Given the description of an element on the screen output the (x, y) to click on. 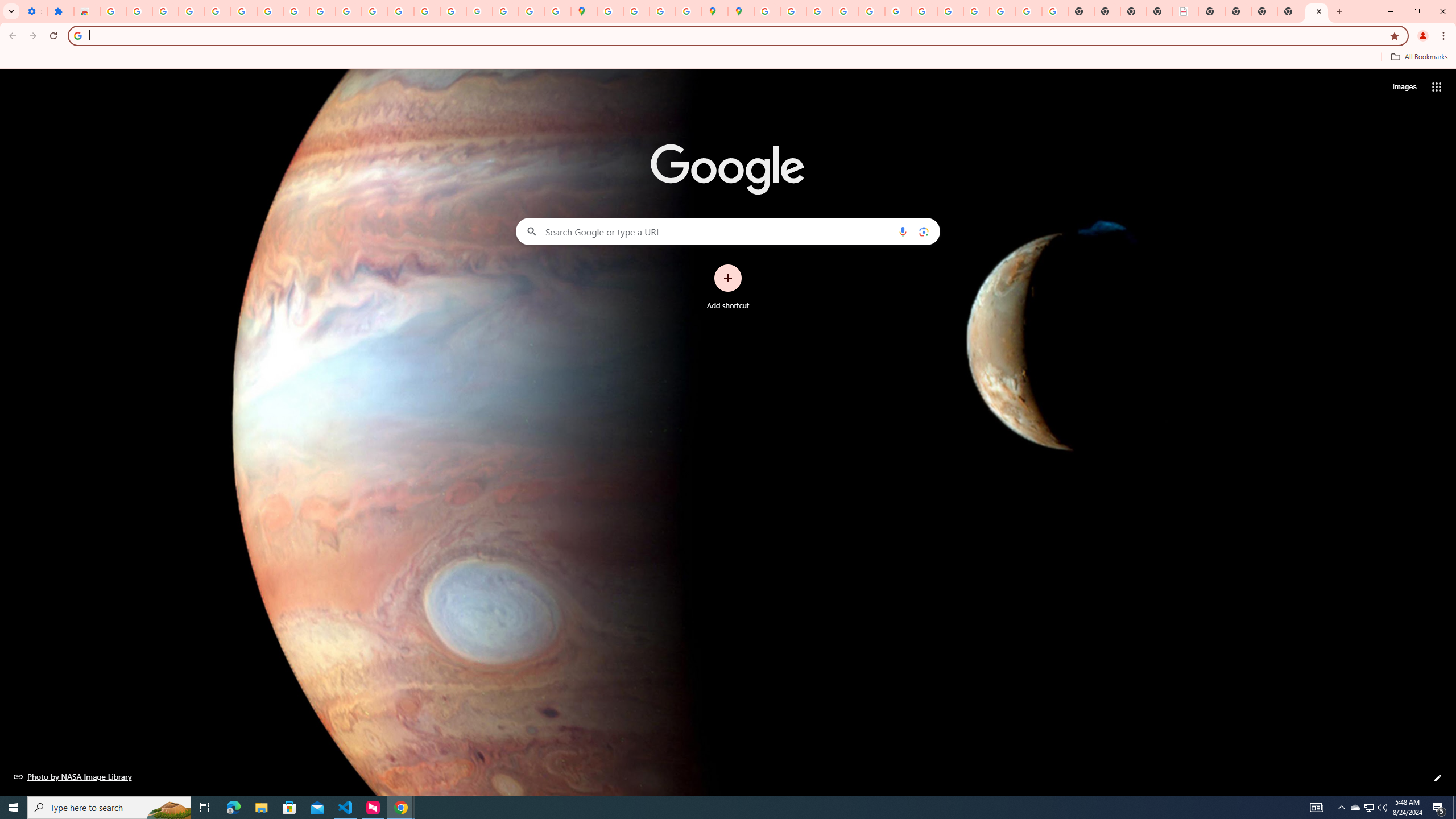
https://scholar.google.com/ (374, 11)
Google Account (296, 11)
